Given the description of an element on the screen output the (x, y) to click on. 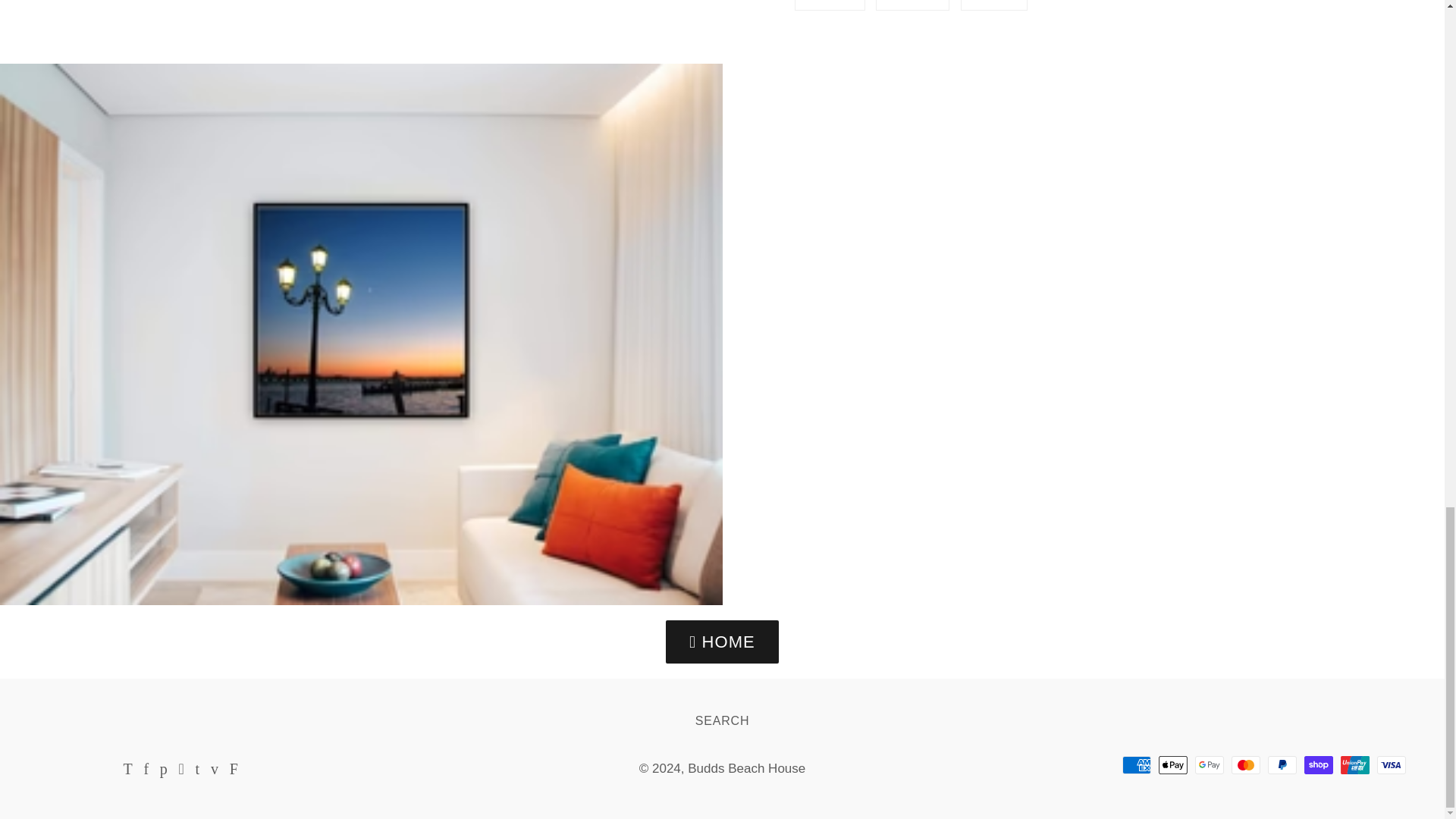
Tweet on Twitter (993, 4)
American Express (912, 4)
Pin on Pinterest (1136, 764)
PayPal (993, 4)
Apple Pay (1282, 764)
Visa (1173, 764)
SEARCH (1391, 764)
Mastercard (721, 721)
HOME (1245, 764)
Budds Beach House (721, 641)
Shop Pay (746, 768)
Google Pay (912, 4)
Union Pay (1318, 764)
